Given the description of an element on the screen output the (x, y) to click on. 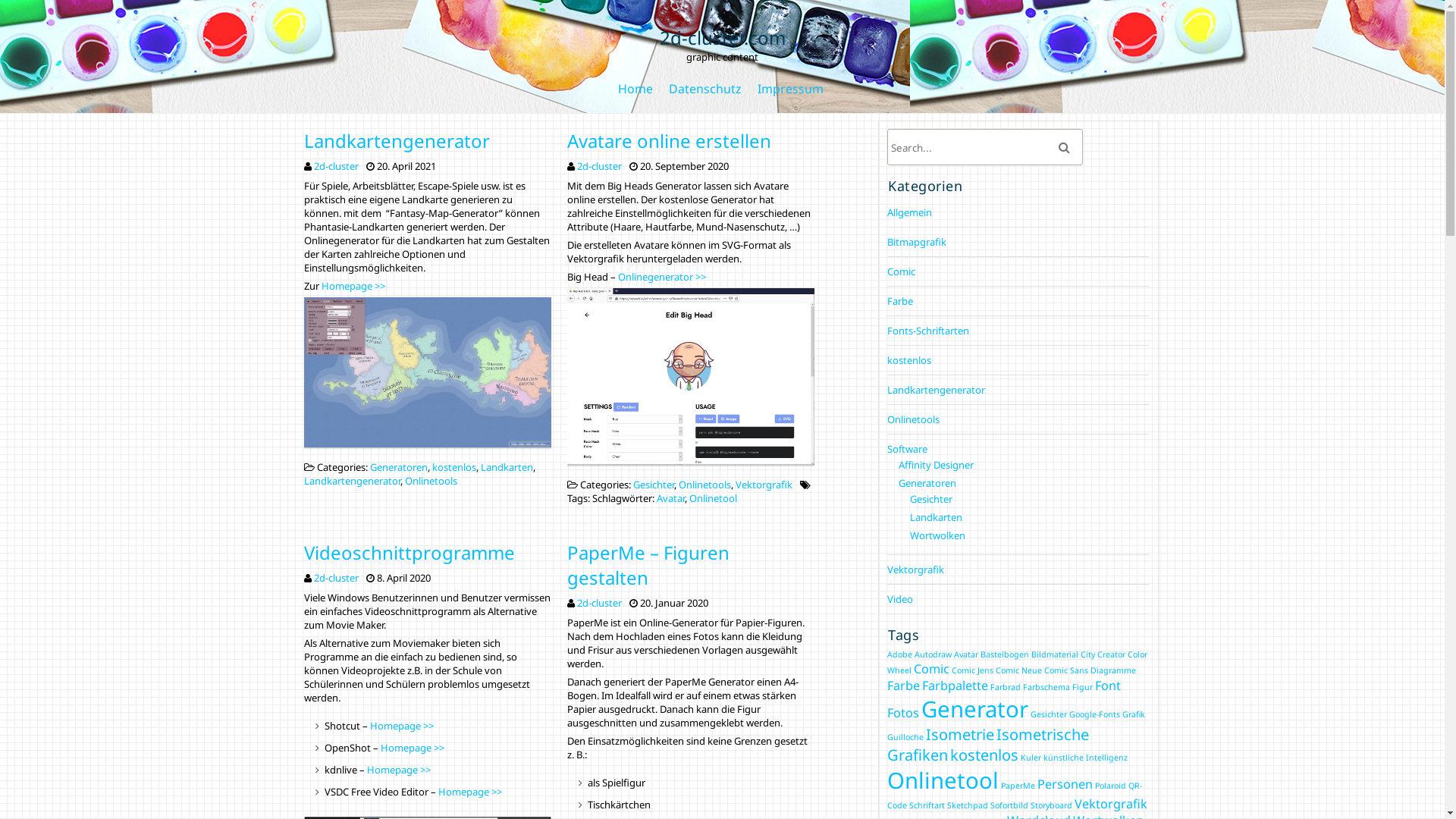
Homepage >> Element type: text (470, 791)
Affinity Designer Element type: text (935, 464)
Fotos Element type: text (903, 712)
Sketchpad Element type: text (967, 805)
Datenschutz Element type: text (704, 88)
Storyboard Element type: text (1051, 805)
Vektorgrafik Element type: text (1110, 803)
Generatoren Element type: text (398, 466)
Farbschema Element type: text (1046, 686)
Sofortbild Element type: text (1009, 805)
Farbpalette Element type: text (955, 685)
Gesichter Element type: text (1048, 714)
Video Element type: text (900, 598)
Polaroid Element type: text (1110, 785)
Diagramme Element type: text (1112, 670)
Allgemein Element type: text (909, 212)
Farbe Element type: text (903, 685)
Onlinegenerator >> Element type: text (662, 276)
Autodraw Element type: text (932, 654)
Bildmaterial Element type: text (1054, 654)
Comic Element type: text (901, 271)
Impressum Element type: text (789, 88)
Gesichter Element type: text (931, 498)
Videoschnittprogramme Element type: text (408, 551)
Kuler Element type: text (1030, 757)
Farbe Element type: text (900, 300)
Vektorgrafik Element type: text (915, 569)
Fonts-Schriftarten Element type: text (928, 330)
Isometrie Element type: text (959, 734)
Onlinetools Element type: text (913, 419)
Home Element type: text (634, 88)
Schriftart Element type: text (926, 805)
Landkartengenerator Element type: text (351, 480)
Avatar Element type: text (965, 654)
Bitmapgrafik Element type: text (916, 241)
Homepage >> Element type: text (398, 769)
Generatoren Element type: text (927, 482)
2d-cluster Element type: text (335, 165)
Landkarten Element type: text (506, 466)
Figur Element type: text (1082, 686)
2d-cluster Element type: text (335, 577)
Personen Element type: text (1064, 783)
2d-cluster.com Element type: text (722, 44)
Generator Element type: text (974, 708)
Comic Jens Element type: text (972, 670)
Comic Sans Element type: text (1066, 670)
Onlinetools Element type: text (704, 484)
Bastelbogen Element type: text (1004, 654)
Comic Element type: text (931, 668)
kostenlos Element type: text (984, 754)
Landkartengenerator Element type: text (396, 140)
Onlinetool Element type: text (942, 780)
Guilloche Element type: text (905, 736)
Adobe Element type: text (899, 654)
Wortwolken Element type: text (937, 535)
Grafik Element type: text (1133, 714)
Isometrische Grafiken Element type: text (987, 744)
Homepage >> Element type: text (401, 725)
kostenlos Element type: text (454, 466)
2d-cluster Element type: text (599, 165)
Landkarten Element type: text (936, 517)
Homepage >> Element type: text (412, 747)
Software Element type: text (907, 448)
PaperMe Element type: text (1018, 785)
Google-Fonts Element type: text (1094, 714)
Comic Neue Element type: text (1018, 670)
Landkartengenerator Element type: text (936, 389)
City Creator Element type: text (1102, 654)
Font Element type: text (1107, 685)
Homepage >>  Element type: text (354, 285)
Avatar Element type: text (670, 498)
kostenlos Element type: text (909, 360)
Vektorgrafik Element type: text (763, 484)
Onlinetool Element type: text (713, 498)
2d-cluster Element type: text (599, 602)
Farbrad Element type: text (1005, 686)
Onlinetools Element type: text (430, 480)
QR-Code Element type: text (1014, 795)
Color Wheel Element type: text (1017, 662)
Avatare online erstellen Element type: text (669, 140)
Gesichter Element type: text (653, 484)
